Given the description of an element on the screen output the (x, y) to click on. 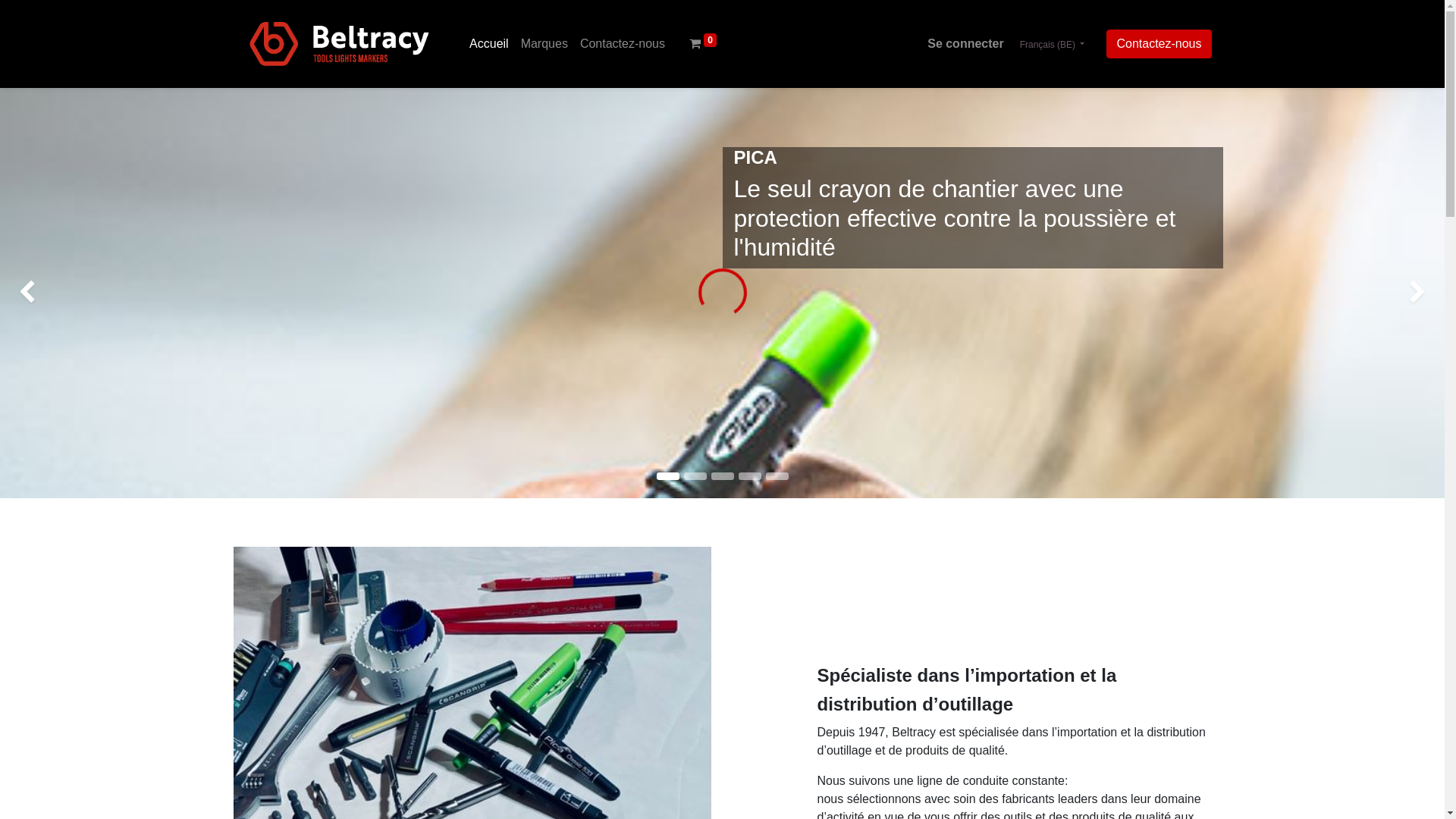
Beltracy Element type: hover (339, 43)
Contactez-nous Element type: text (1158, 43)
Se connecter Element type: text (965, 43)
Contactez-nous Element type: text (622, 43)
Marques Element type: text (544, 43)
Accueil Element type: text (488, 43)
0 Element type: text (702, 43)
